Given the description of an element on the screen output the (x, y) to click on. 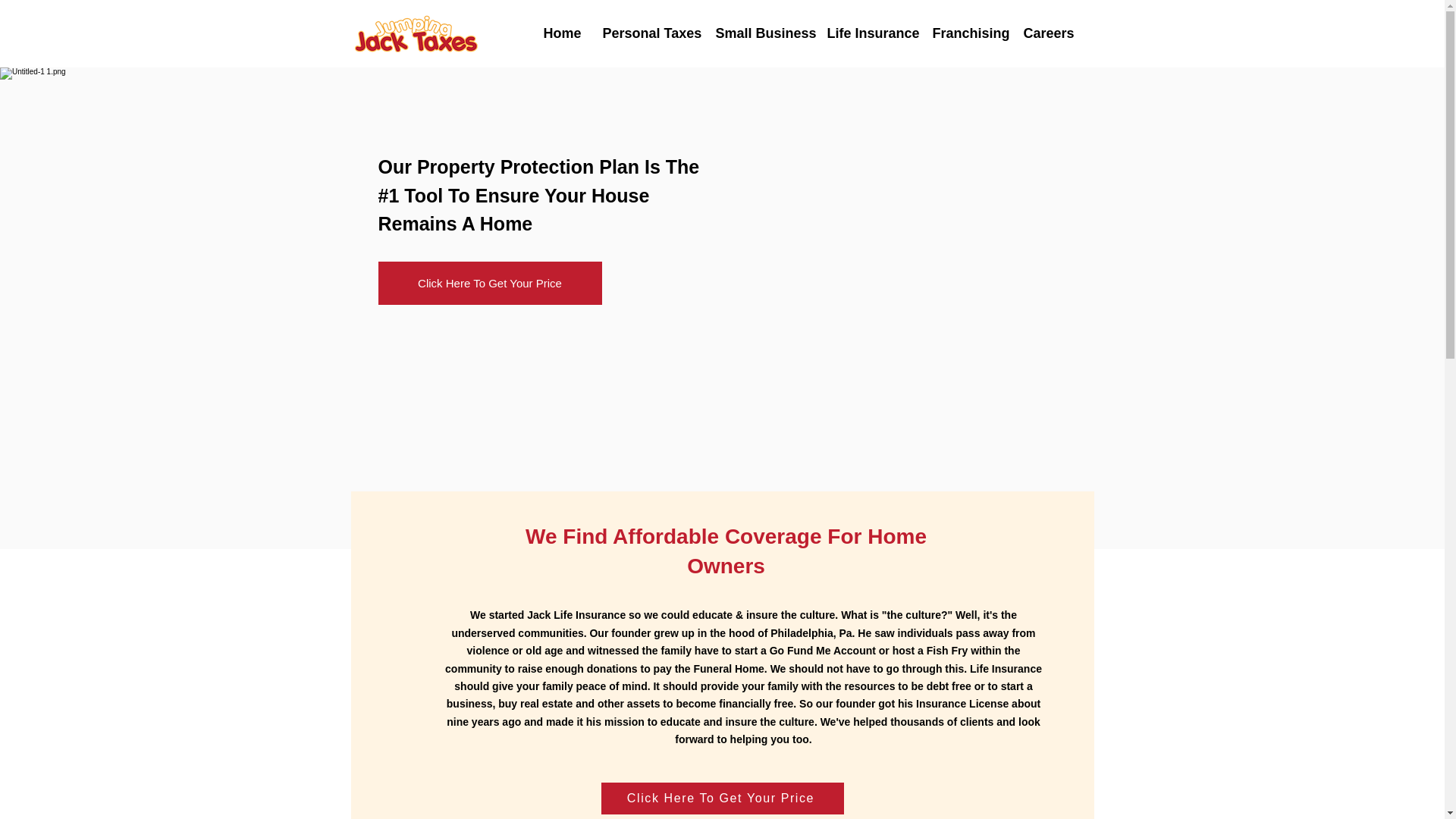
Life Insurance (868, 33)
Home (561, 33)
Franchising (965, 33)
Careers (1045, 33)
Click Here To Get Your Price (721, 798)
Click Here To Get Your Price (489, 282)
Personal Taxes (647, 33)
Small Business (759, 33)
